Given the description of an element on the screen output the (x, y) to click on. 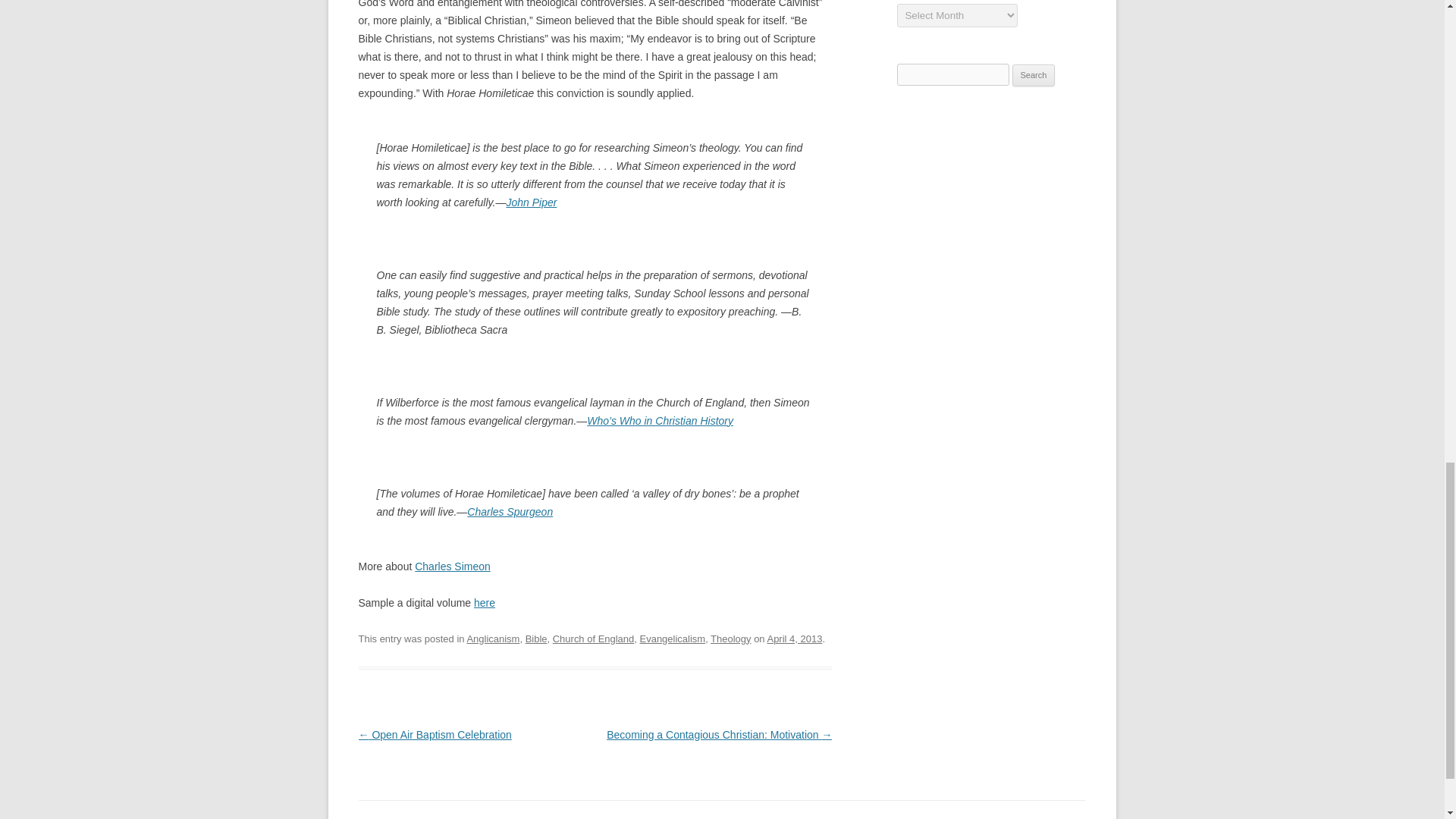
11:06 am (794, 638)
Evangelicalism (673, 638)
Charles Simeon (452, 566)
Theology (730, 638)
Church of England (593, 638)
John Piper (530, 202)
Charles Spurgeon (510, 511)
Bible (536, 638)
here (484, 603)
Anglicanism (492, 638)
